Given the description of an element on the screen output the (x, y) to click on. 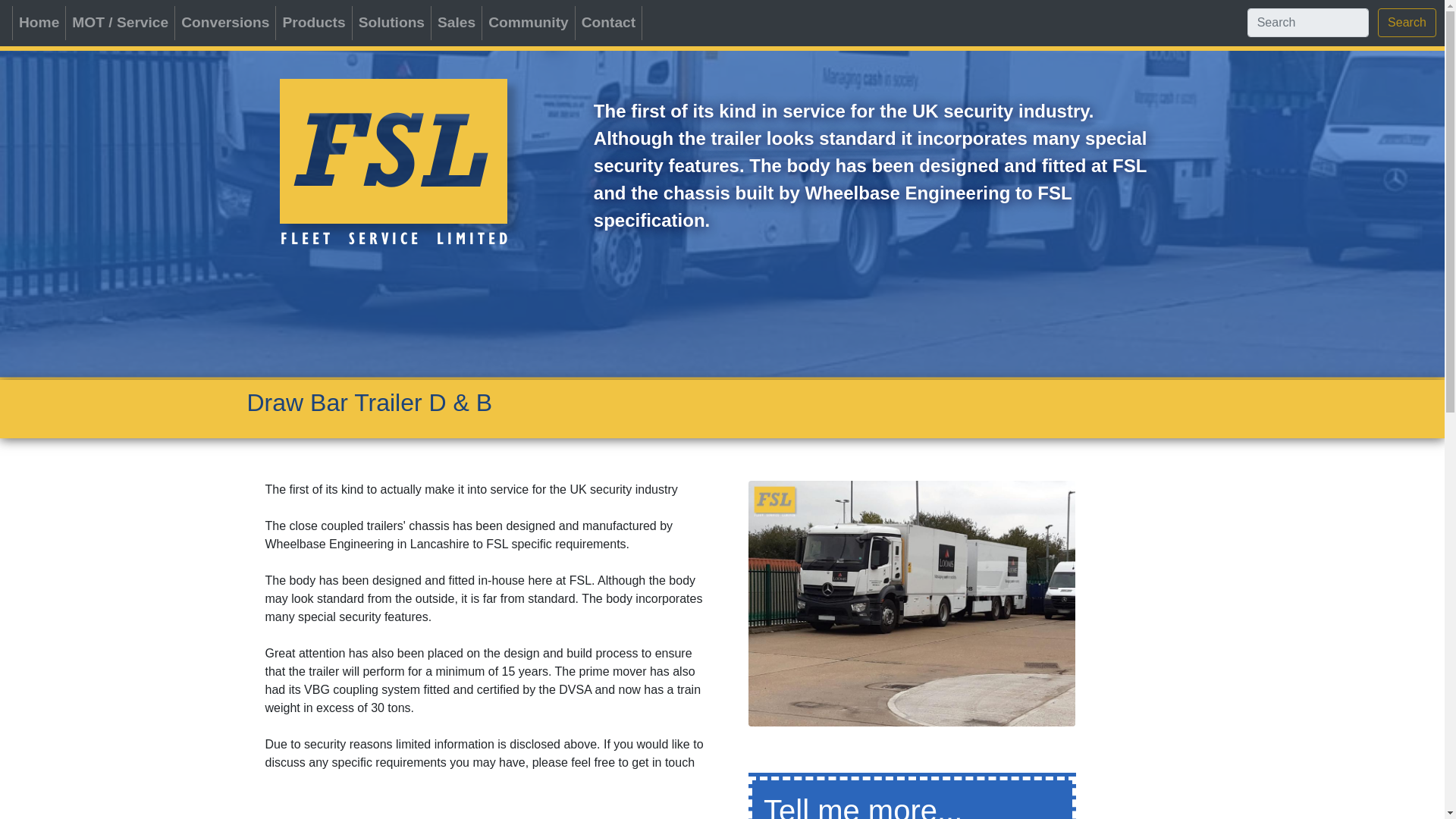
Home (39, 22)
Contact (608, 22)
Community (528, 22)
Solutions (391, 22)
Conversions (224, 22)
Search (1406, 22)
Products (313, 22)
Sales (455, 22)
